Given the description of an element on the screen output the (x, y) to click on. 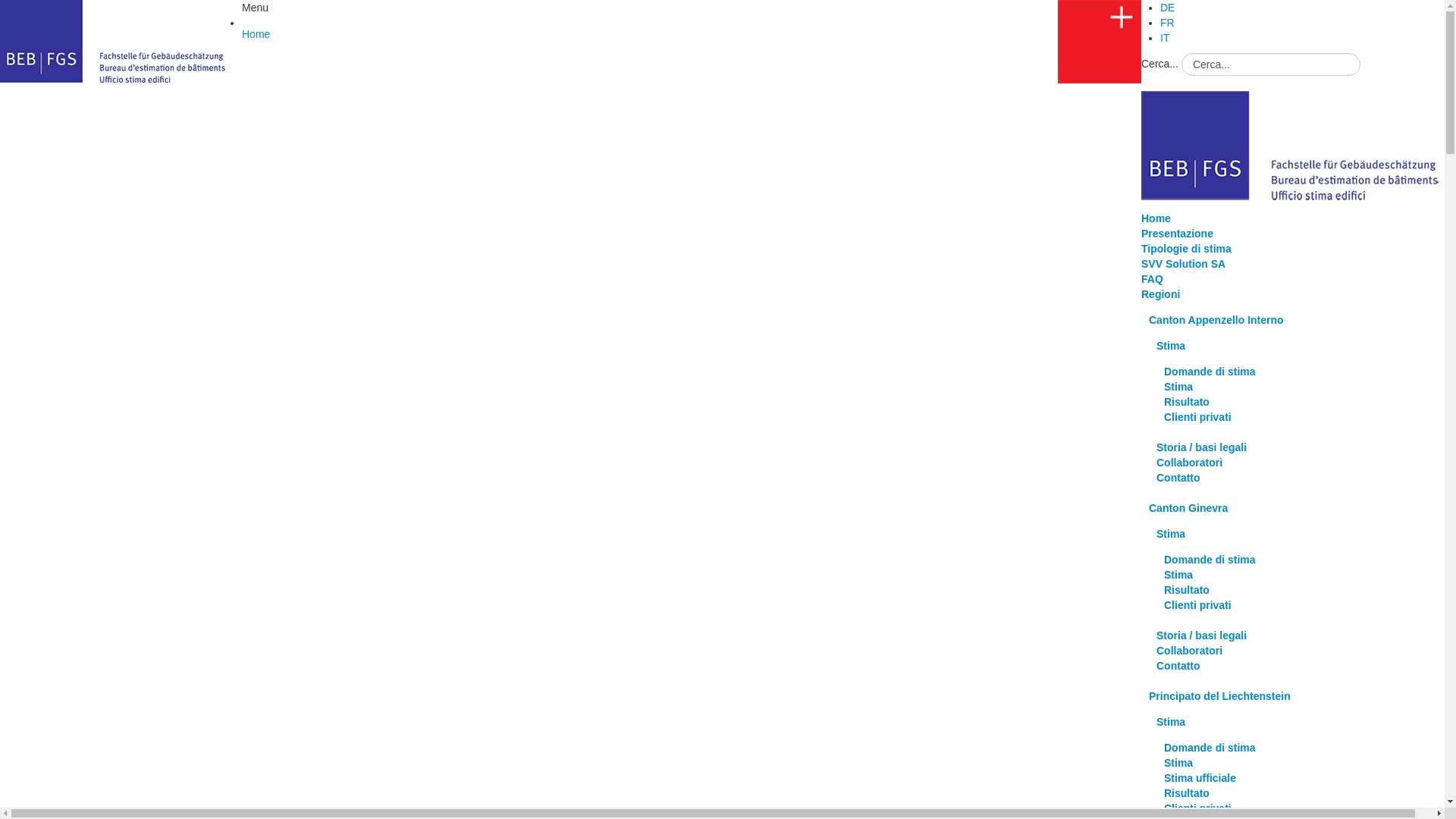
Principato del Liechtenstein Element type: text (1219, 696)
Home Element type: text (1155, 218)
IT Element type: text (1164, 37)
Regioni Element type: text (1160, 294)
DE Element type: text (1167, 7)
Collaboratori Element type: text (1189, 650)
Tipologie di stima Element type: text (1186, 248)
Stima Element type: text (1178, 386)
Clienti privati Element type: text (1197, 808)
Risultato Element type: text (1186, 589)
Stima ufficiale Element type: text (1200, 777)
Contatto Element type: text (1178, 665)
Stima Element type: text (1170, 721)
Clienti privati Element type: text (1197, 605)
FAQ Element type: text (1152, 279)
Presentazione Element type: text (1177, 233)
Collaboratori Element type: text (1189, 462)
Stima Element type: text (1170, 345)
Domande di stima Element type: text (1209, 747)
Canton Ginevra Element type: text (1187, 508)
Stima Element type: text (1178, 762)
Storia / basi legali Element type: text (1201, 447)
Stima Element type: text (1170, 533)
Contatto Element type: text (1178, 477)
Risultato Element type: text (1186, 793)
Clienti privati Element type: text (1197, 417)
Domande di stima Element type: text (1209, 559)
Domande di stima Element type: text (1209, 371)
Risultato Element type: text (1186, 401)
FR Element type: text (1167, 22)
Stima Element type: text (1178, 574)
Canton Appenzello Interno Element type: text (1215, 319)
SVV Solution SA Element type: text (1183, 263)
Storia / basi legali Element type: text (1201, 635)
